Given the description of an element on the screen output the (x, y) to click on. 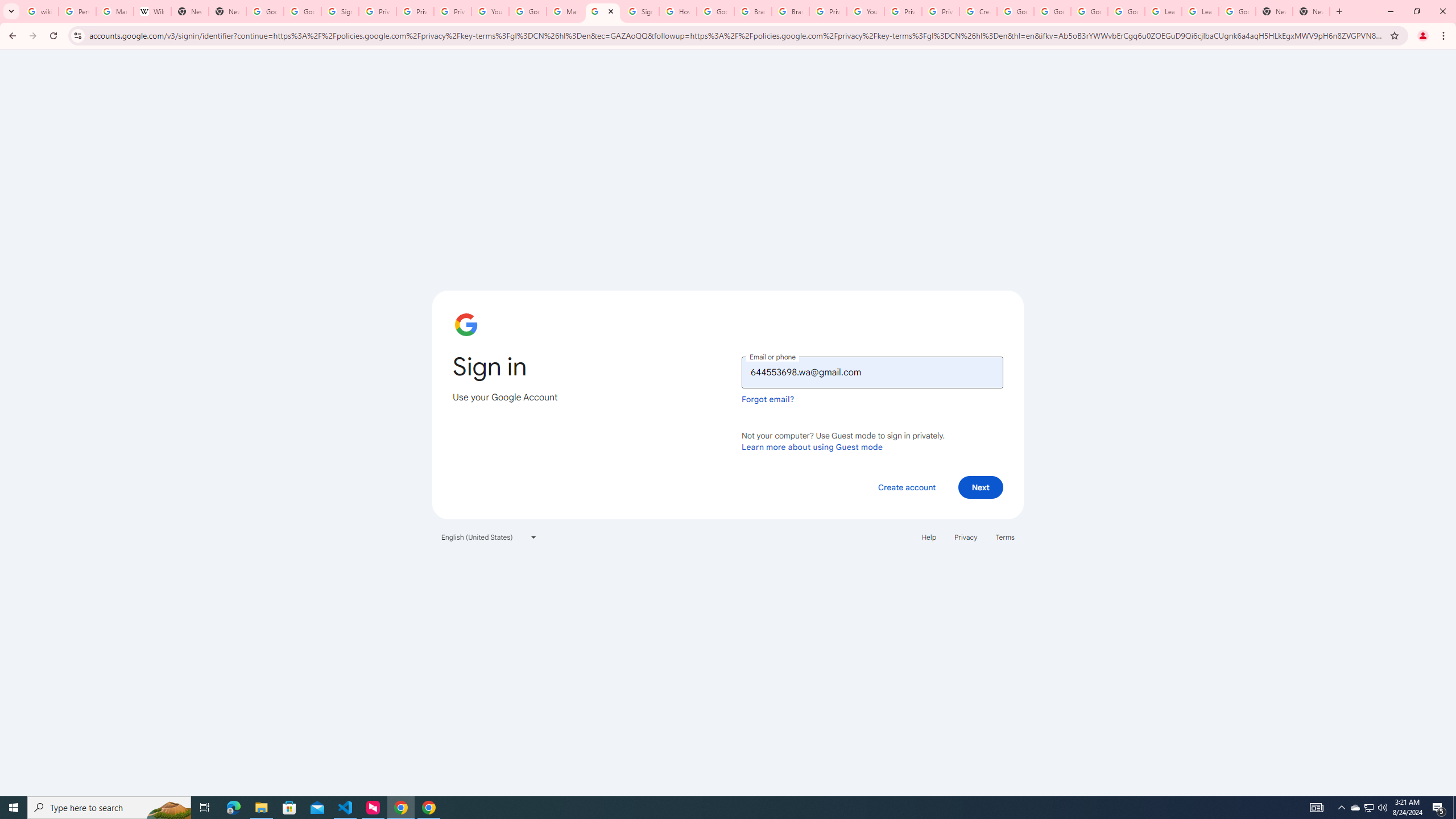
Wikipedia:Edit requests - Wikipedia (152, 11)
New Tab (227, 11)
Create account (905, 486)
Sign in - Google Accounts (339, 11)
YouTube (489, 11)
